Given the description of an element on the screen output the (x, y) to click on. 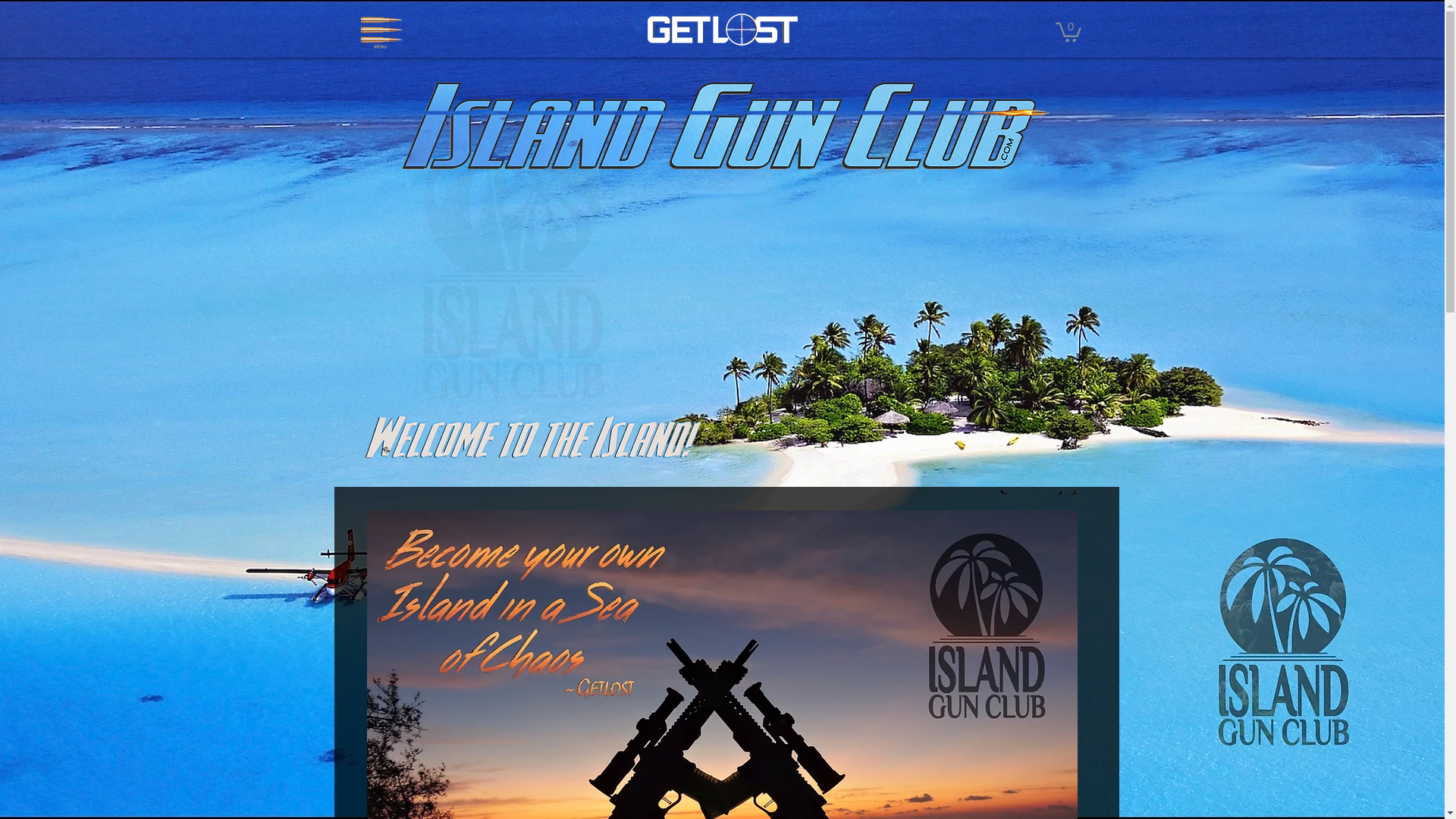
MENU (379, 31)
Home (721, 29)
0 (1068, 30)
0 (1068, 31)
